Given the description of an element on the screen output the (x, y) to click on. 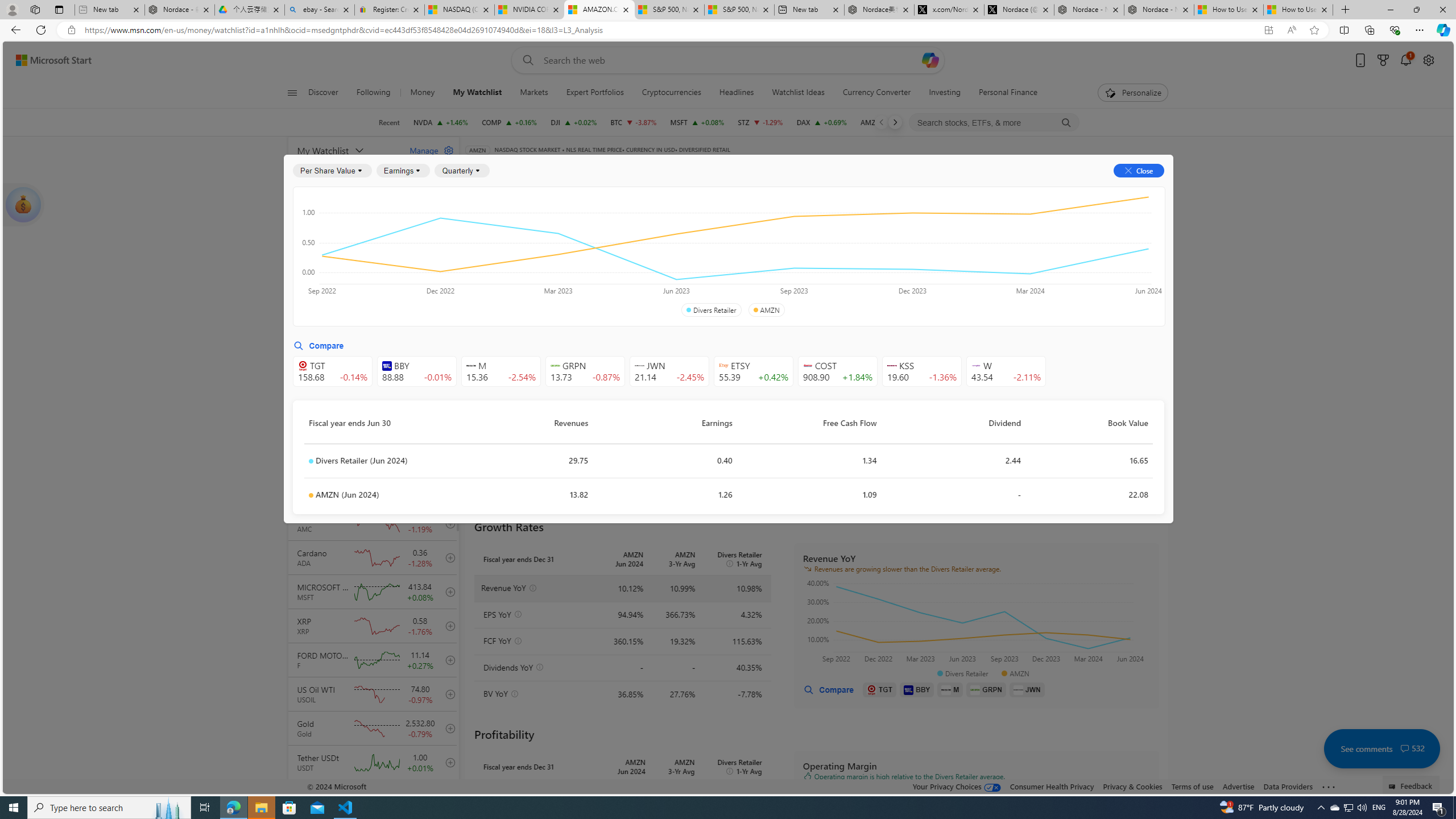
Discover (322, 92)
S&P 500, Nasdaq end lower, weighed by Nvidia dip | Watch (738, 9)
Previous (881, 122)
Open navigation menu (292, 92)
Web search (526, 60)
Compare (827, 689)
Key Ratios (493, 223)
Advertise (1238, 786)
My Watchlist (477, 92)
